Given the description of an element on the screen output the (x, y) to click on. 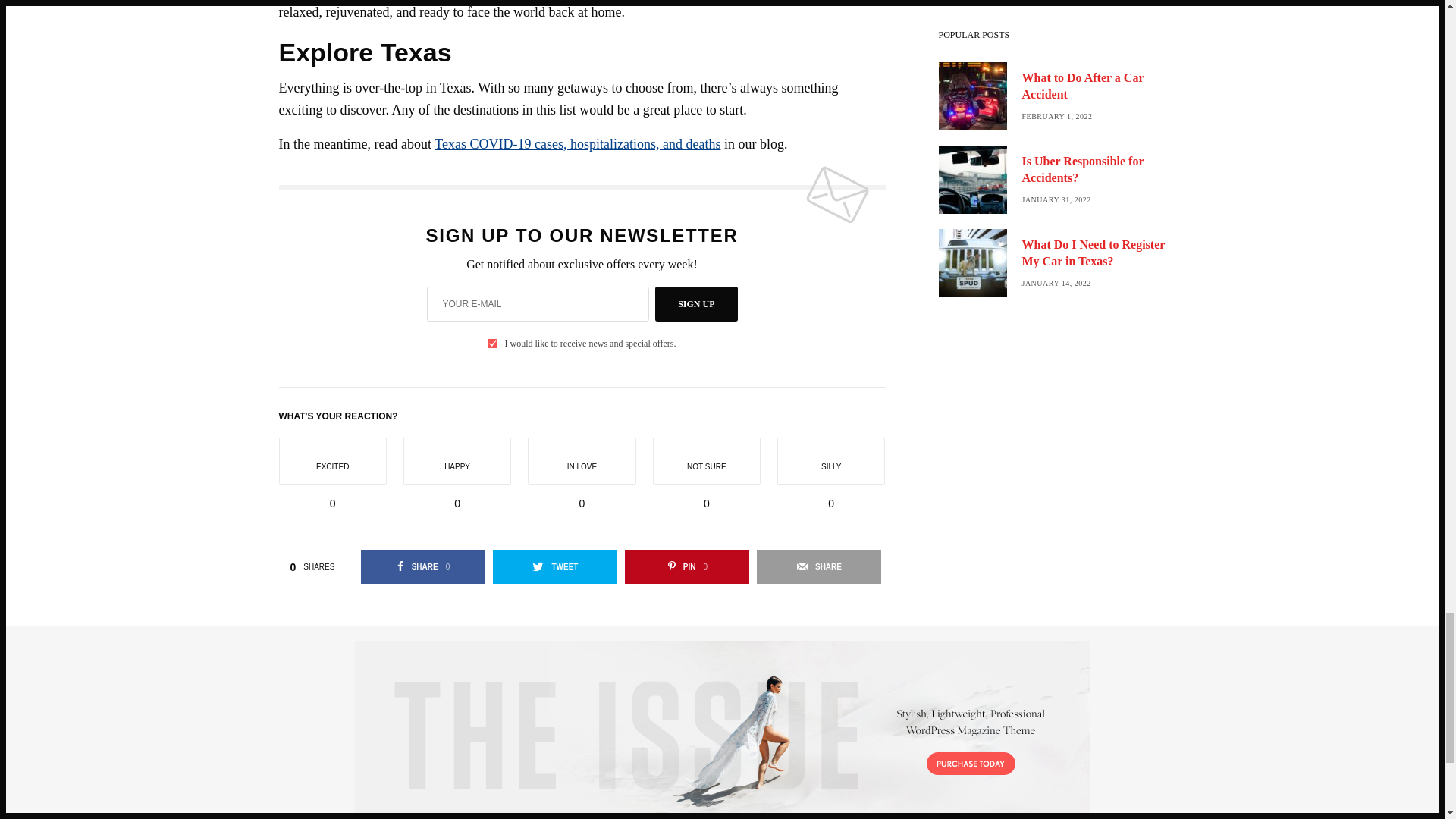
SIGN UP (422, 566)
Texas COVID-19 cases, hospitalizations, and deaths (695, 303)
TWEET (576, 143)
SHARE (555, 566)
